Given the description of an element on the screen output the (x, y) to click on. 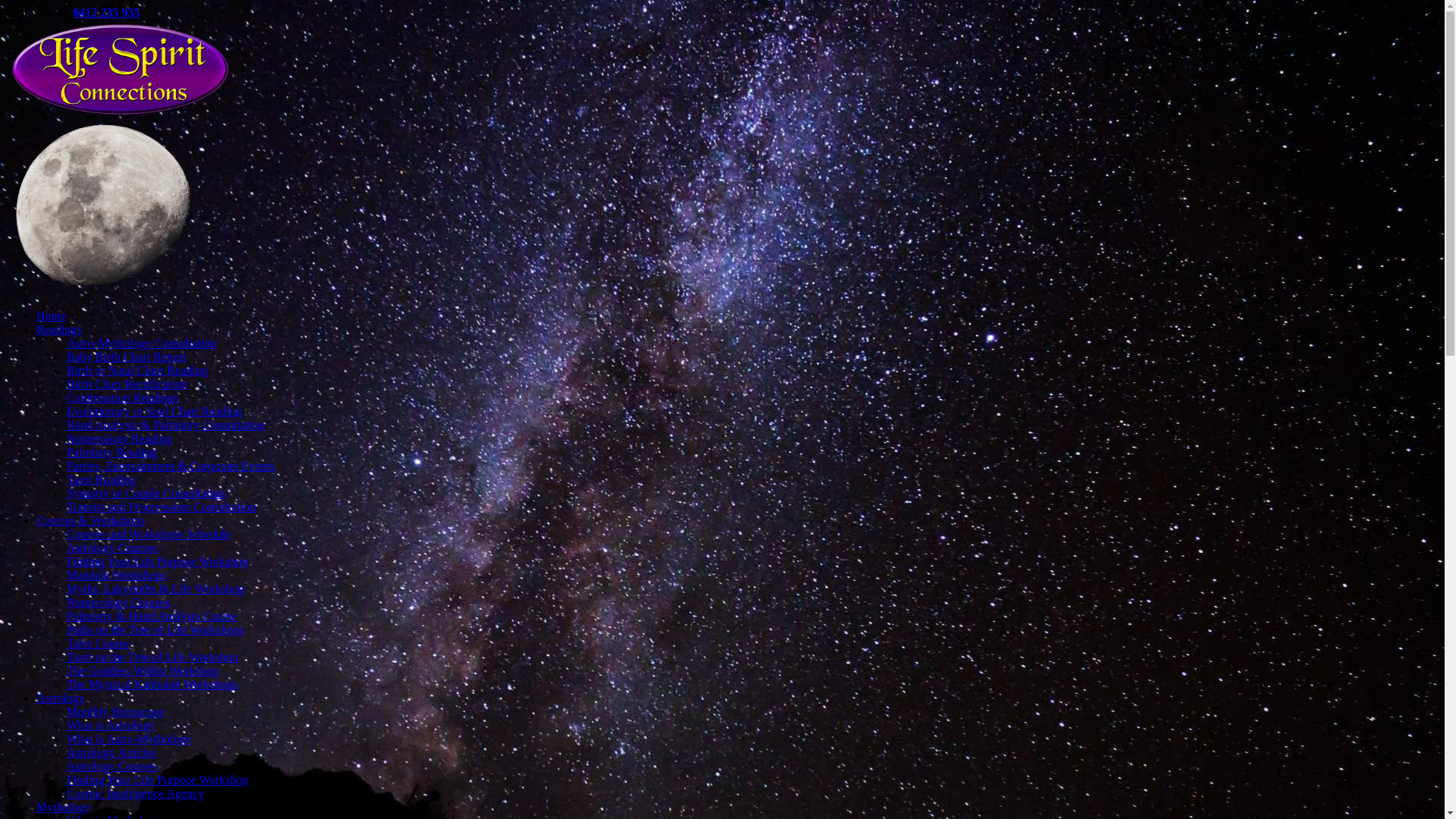
Courses and Workshops Schedule Element type: text (148, 533)
Finding Your Life Purpose Workshop Element type: text (157, 561)
Astro-Mythology Consultation Element type: text (141, 342)
0412 235 935 Element type: text (105, 12)
Home Element type: text (50, 315)
Courses & Workshops Element type: text (90, 520)
Paths on the Tree of Life Workshops Element type: text (155, 629)
Tarot Course Element type: text (97, 643)
Baby Birth Chart Report Element type: text (126, 356)
Readings Element type: text (58, 329)
Monthly Horoscope Element type: text (114, 711)
Numerology Courses Element type: text (117, 602)
Tarot on the Tree of Life Workshop Element type: text (152, 656)
Mandala Workshops Element type: text (116, 574)
Birth Chart Rectification Element type: text (126, 383)
Mythology Element type: text (63, 806)
Combination Readings Element type: text (122, 397)
The Goddess Within Workshop Element type: text (142, 670)
What is Astro-Mythology Element type: text (128, 738)
Synastry or Couple Consultation Element type: text (145, 492)
Astrology Courses Element type: text (111, 765)
Transits and Progressions Consultation Element type: text (161, 506)
Numerology Reading Element type: text (118, 438)
Tarot Reading Element type: text (100, 479)
Skip to content Element type: text (5, 5)
Hand Analysis & Palmistry Consultation Element type: text (165, 424)
Astrology Element type: text (60, 697)
Myths, Labyrinths & Life Workshop Element type: text (155, 588)
Astrology Courses Element type: text (111, 547)
Birth or Natal Chart Reading Element type: text (136, 370)
Cosmic Intelligence Agency Element type: text (134, 793)
Finding Your Life Purpose Workshop Element type: text (157, 779)
Astrology Articles Element type: text (111, 752)
Palmistry Reading Element type: text (111, 451)
Parties, Entertainment & Corporate Events Element type: text (170, 465)
Palmistry & Hand Analysis Course Element type: text (151, 615)
The Mystical Kabbalah Workshops Element type: text (151, 683)
Evolutionary or Soul Chart Reading Element type: text (153, 410)
What is Astrology Element type: text (110, 724)
